Given the description of an element on the screen output the (x, y) to click on. 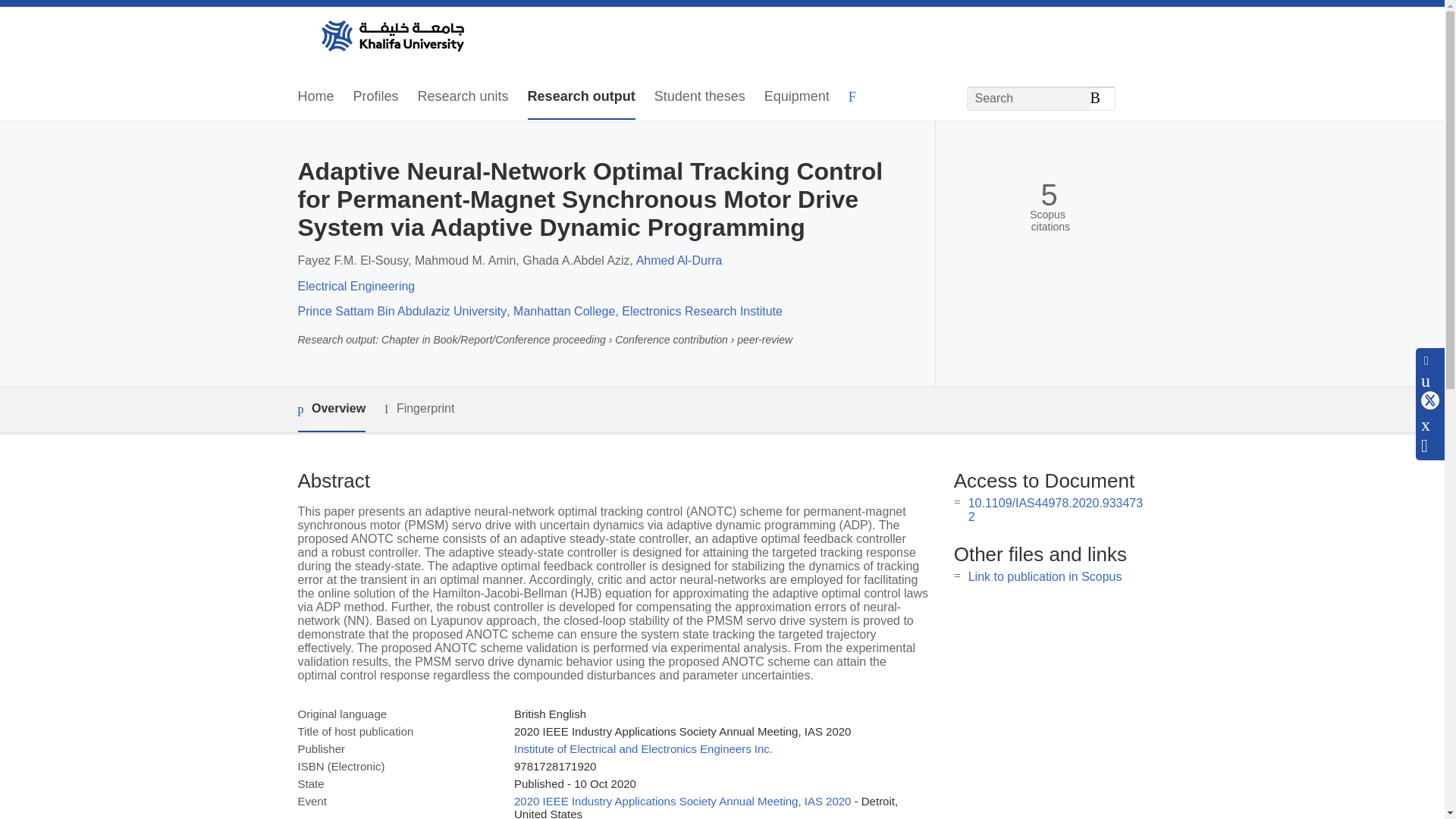
Fingerprint (419, 408)
Electronics Research Institute (702, 310)
Manhattan College (563, 310)
Link to publication in Scopus (1045, 576)
Prince Sattam Bin Abdulaziz University (401, 310)
Khalifa University Home (391, 37)
Ahmed Al-Durra (679, 259)
Profiles (375, 97)
Equipment (796, 97)
Student theses (699, 97)
Institute of Electrical and Electronics Engineers Inc. (643, 748)
Overview (331, 409)
Research units (462, 97)
